Given the description of an element on the screen output the (x, y) to click on. 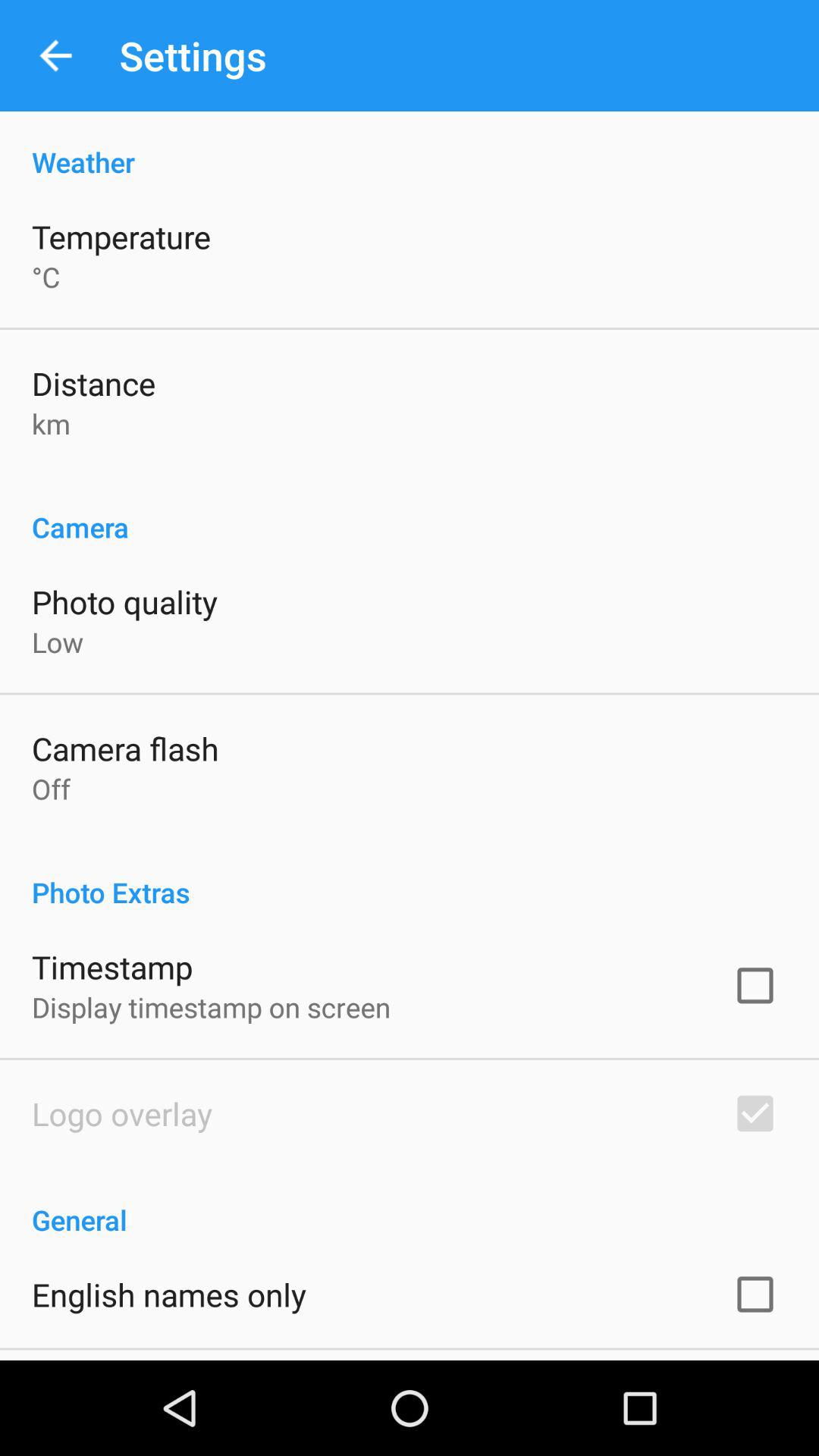
click icon to the left of the settings (55, 55)
